Given the description of an element on the screen output the (x, y) to click on. 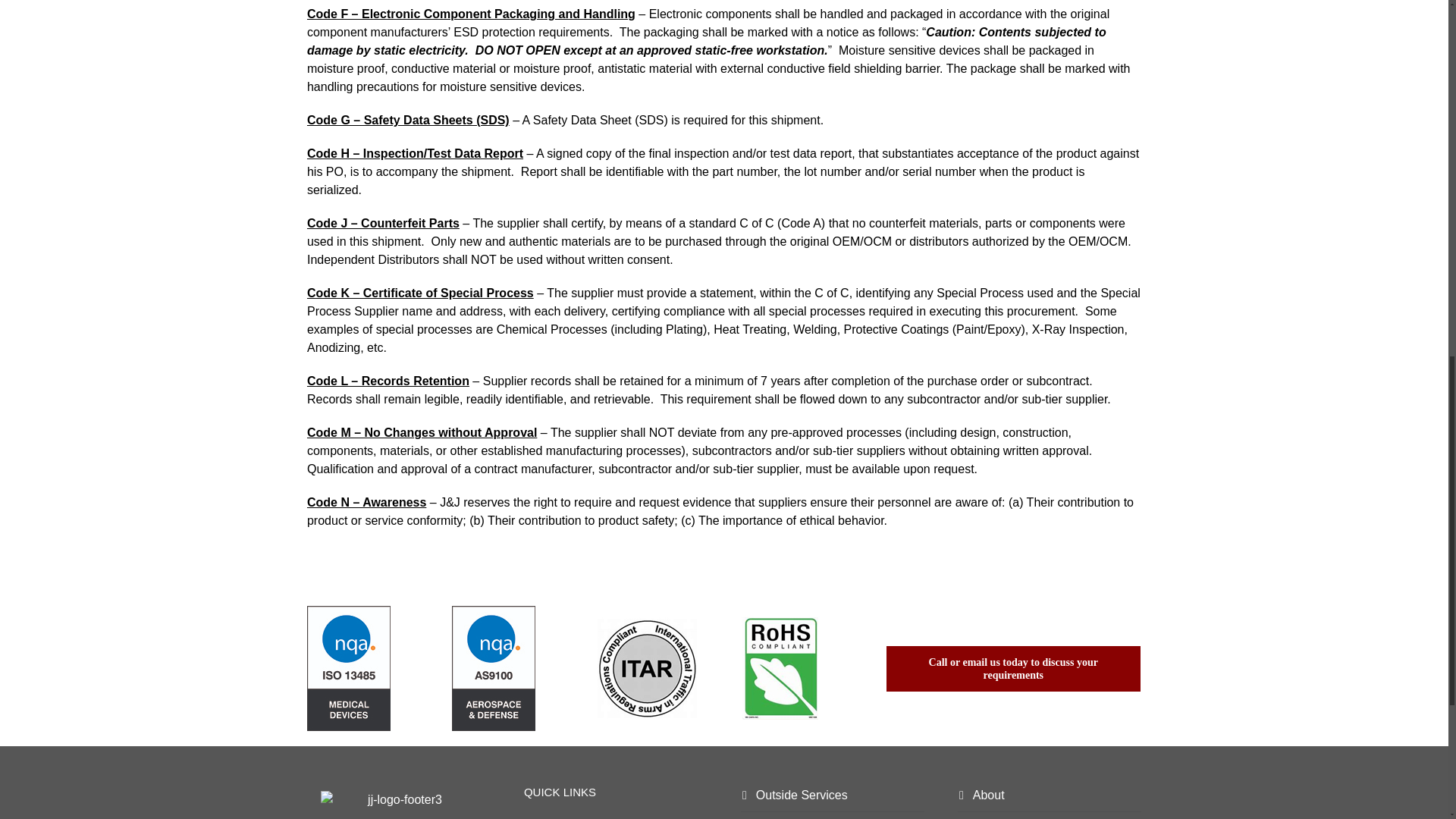
About (1049, 795)
Outside Services (832, 795)
Quality (615, 816)
Call or email us today to discuss your requirements (1013, 668)
itarc (646, 668)
Materials (832, 815)
